Given the description of an element on the screen output the (x, y) to click on. 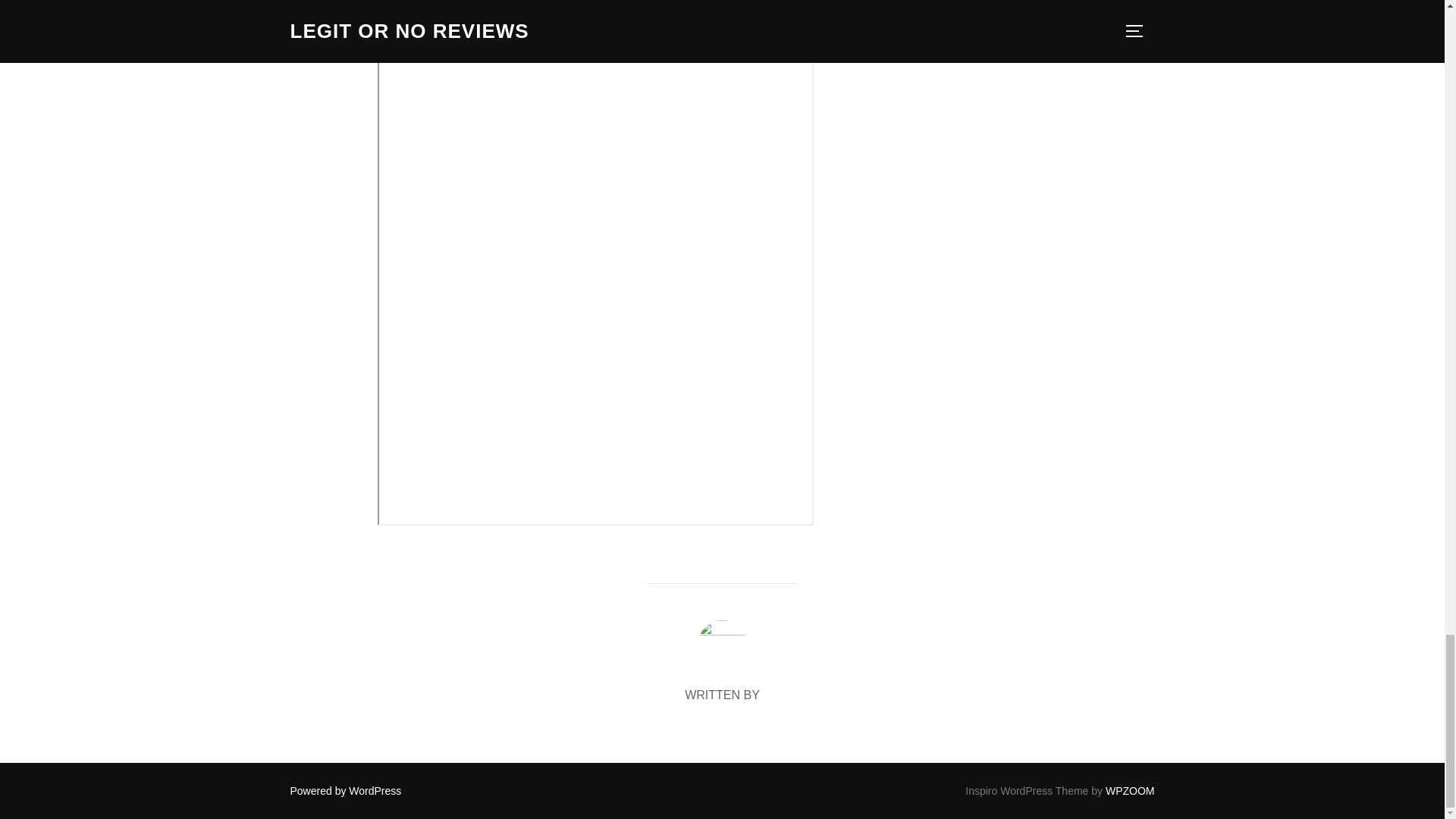
Powered by WordPress (345, 790)
WPZOOM (1129, 790)
